Given the description of an element on the screen output the (x, y) to click on. 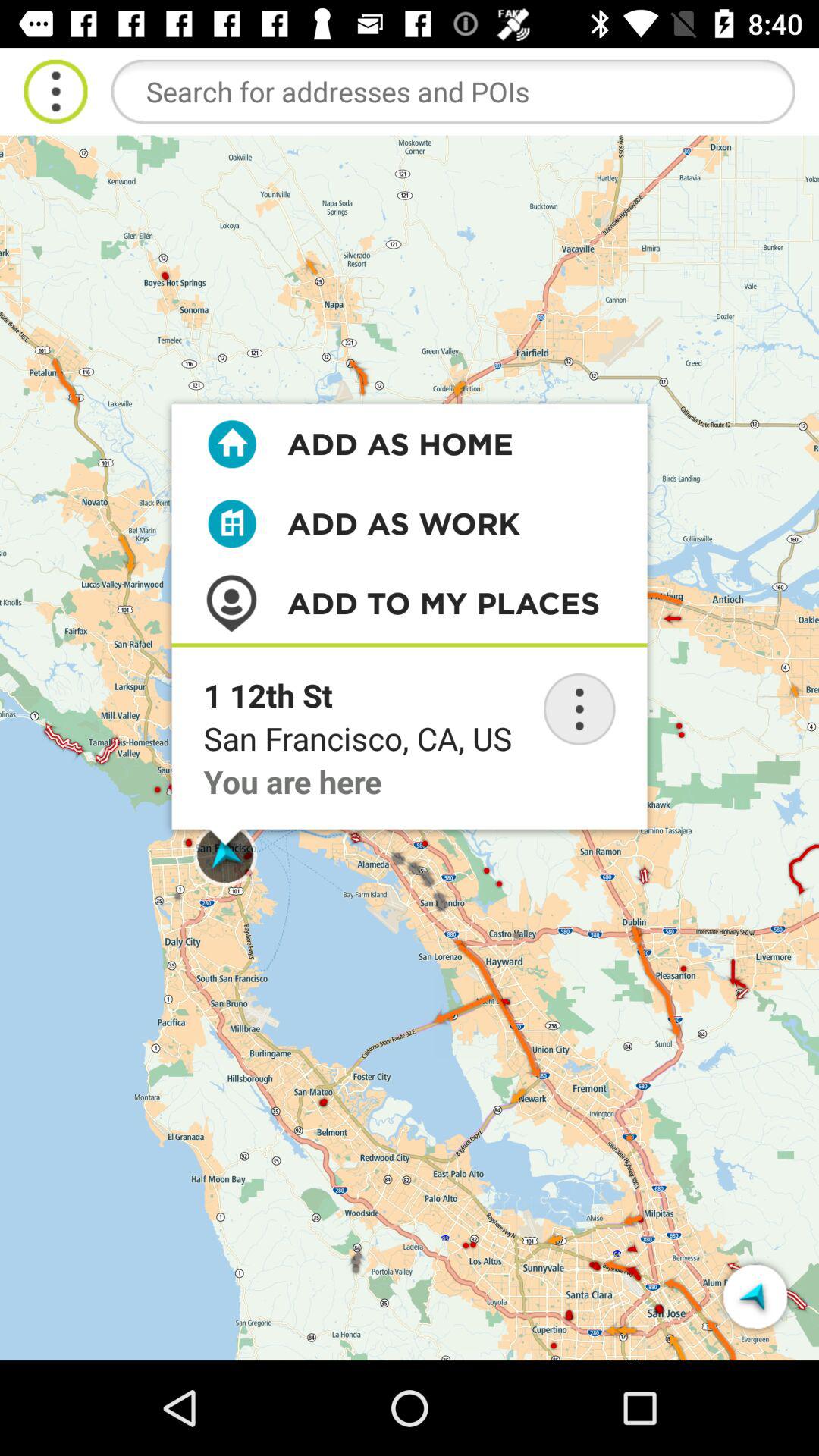
menu (55, 91)
